Given the description of an element on the screen output the (x, y) to click on. 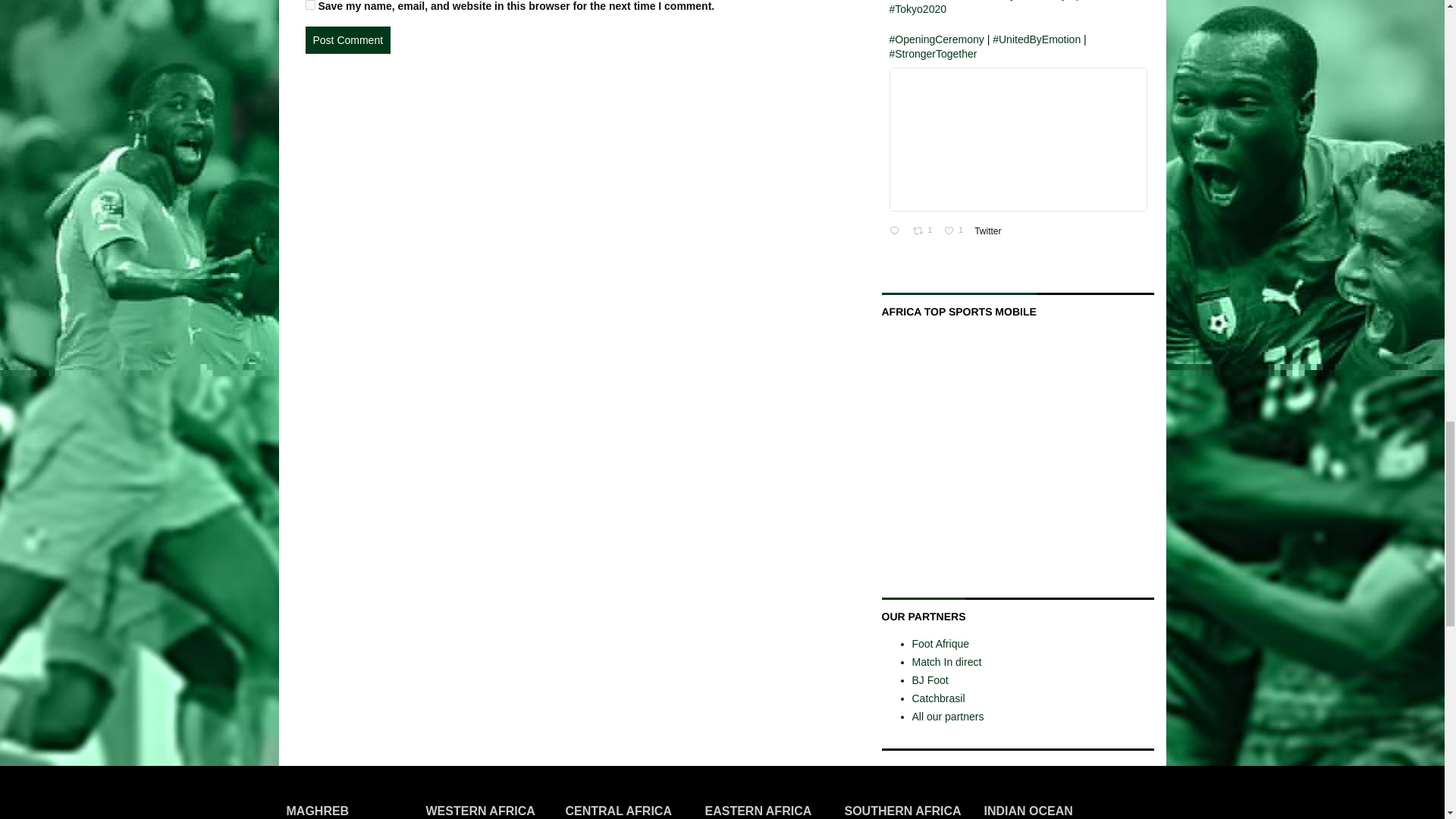
yes (309, 4)
Post Comment (347, 40)
